Given the description of an element on the screen output the (x, y) to click on. 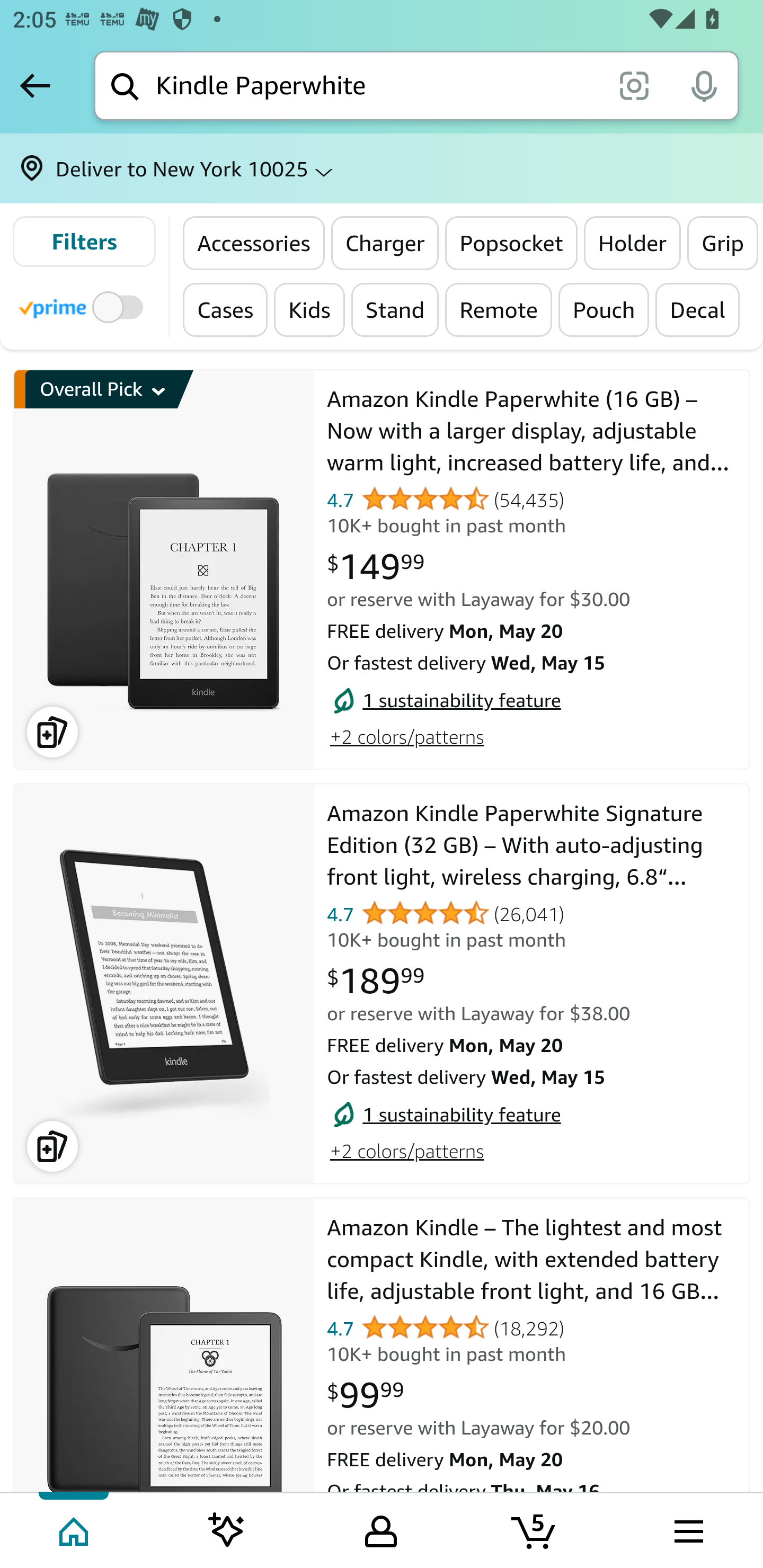
Back (35, 85)
scan it (633, 85)
Deliver to New York 10025 ⌵ (381, 168)
Filters (83, 241)
Accessories (254, 242)
Charger (385, 242)
Popsocket (511, 242)
Holder (632, 242)
Grip (722, 242)
Toggle to filter by Prime products Prime Eligible (83, 306)
Cases (225, 309)
Kids (308, 309)
Stand (394, 309)
Remote (498, 309)
Pouch (603, 309)
Decal (697, 309)
+2 colors/patterns (406, 735)
+2 colors/patterns (406, 1151)
Home Tab 1 of 5 (75, 1529)
Inspire feed Tab 2 of 5 (227, 1529)
Your Amazon.com Tab 3 of 5 (380, 1529)
Cart 5 items Tab 4 of 5 5 (534, 1529)
Browse menu Tab 5 of 5 (687, 1529)
